Given the description of an element on the screen output the (x, y) to click on. 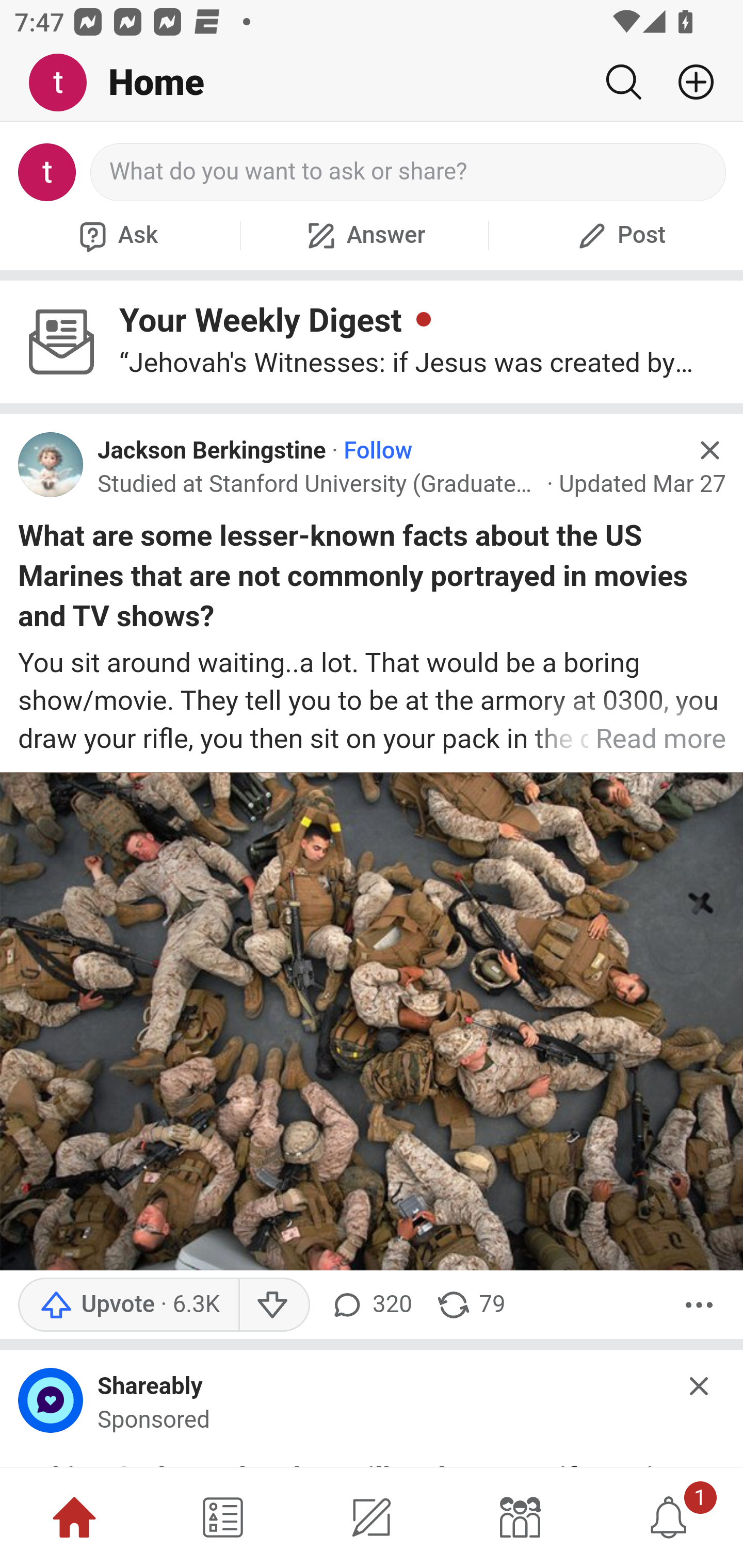
Me Home Search Add (371, 82)
Me (64, 83)
Search (623, 82)
Add (688, 82)
1 (668, 1517)
